Given the description of an element on the screen output the (x, y) to click on. 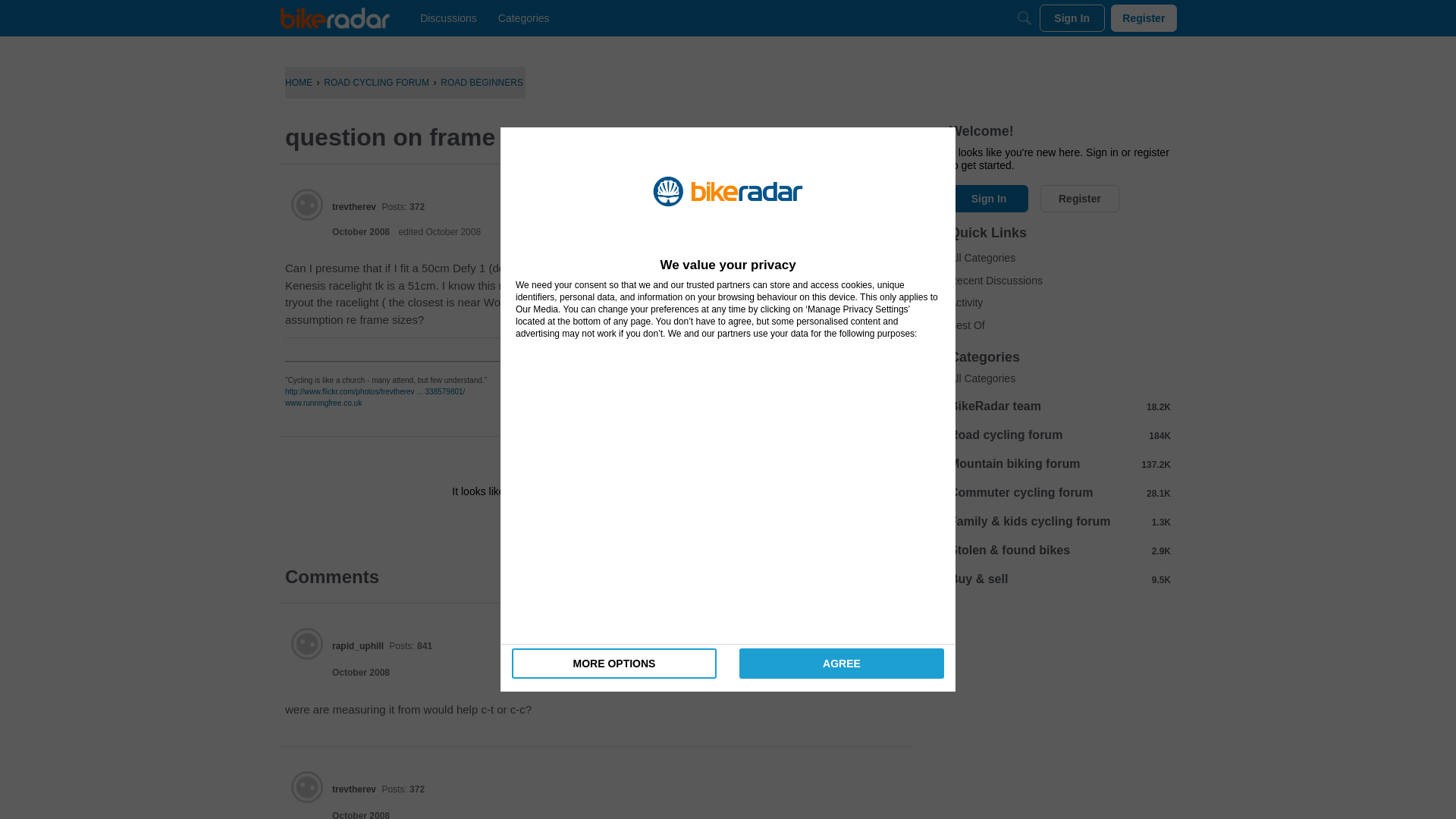
trevtherev (307, 787)
trevtherev (353, 788)
Register (1143, 17)
ROAD BEGINNERS (481, 81)
Search (1024, 17)
October 2008 (360, 672)
Register (638, 524)
Register (638, 524)
October 2008 (360, 814)
Sign In (1072, 17)
